Given the description of an element on the screen output the (x, y) to click on. 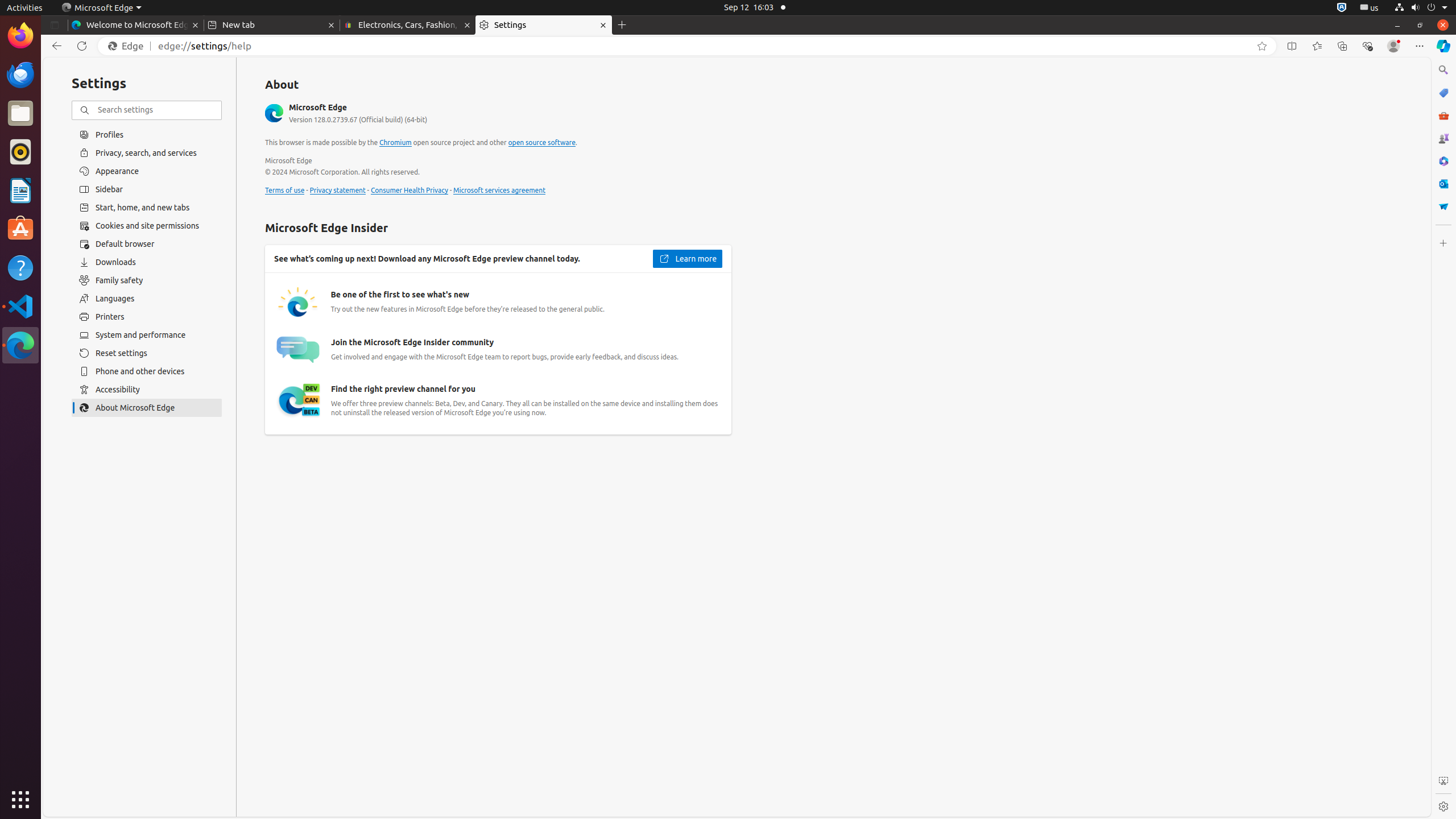
open source software Element type: link (541, 142)
Outlook Element type: push-button (1443, 183)
Drop Element type: push-button (1443, 206)
Microsoft 365 Element type: push-button (1443, 160)
Chromium Element type: link (395, 142)
